Given the description of an element on the screen output the (x, y) to click on. 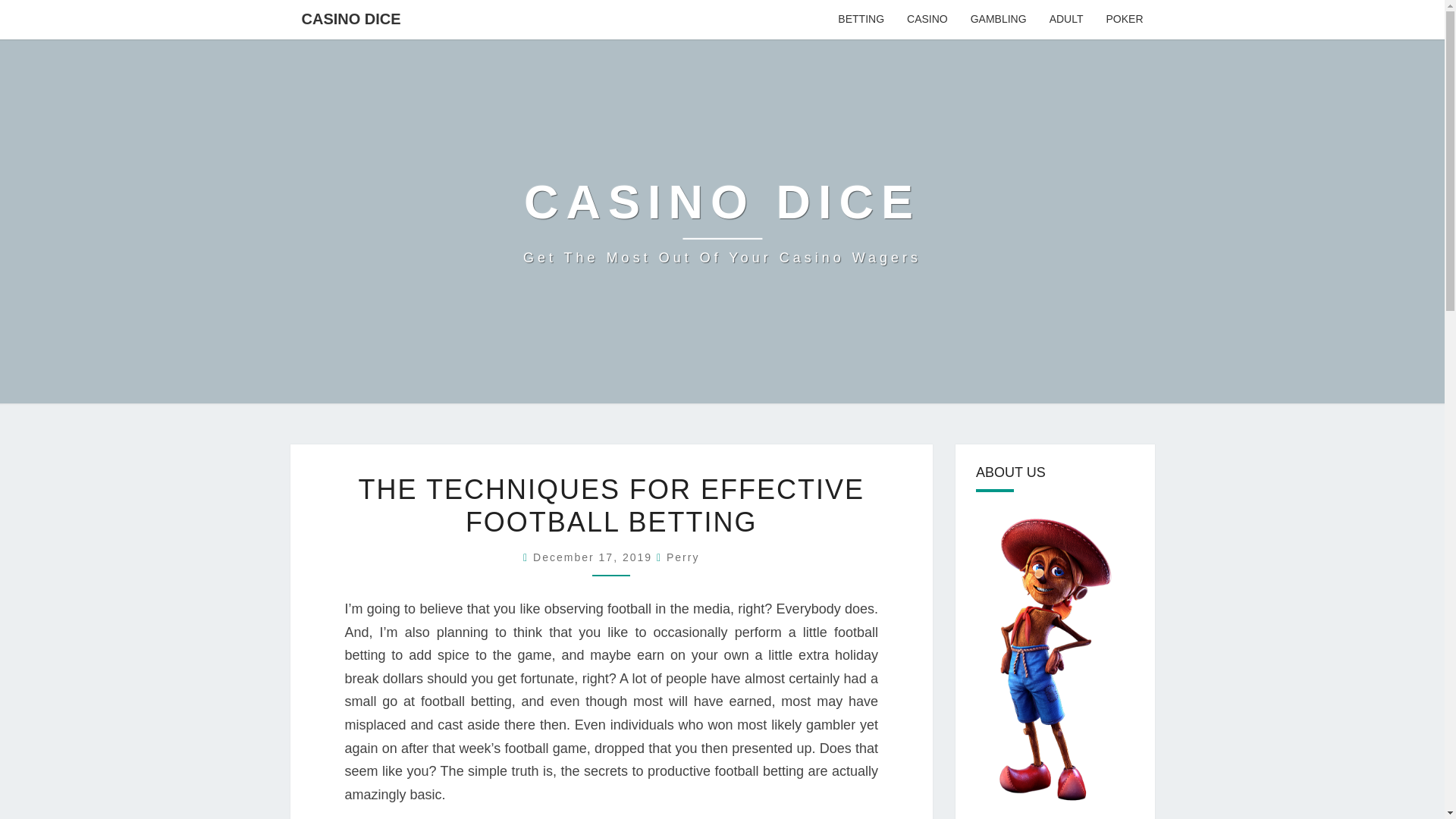
Perry (682, 557)
CASINO DICE (350, 18)
ADULT (721, 221)
7:32 am (1066, 19)
Casino dice (594, 557)
CASINO (721, 221)
GAMBLING (927, 19)
BETTING (998, 19)
View all posts by Perry (861, 19)
POKER (682, 557)
December 17, 2019 (1124, 19)
